Given the description of an element on the screen output the (x, y) to click on. 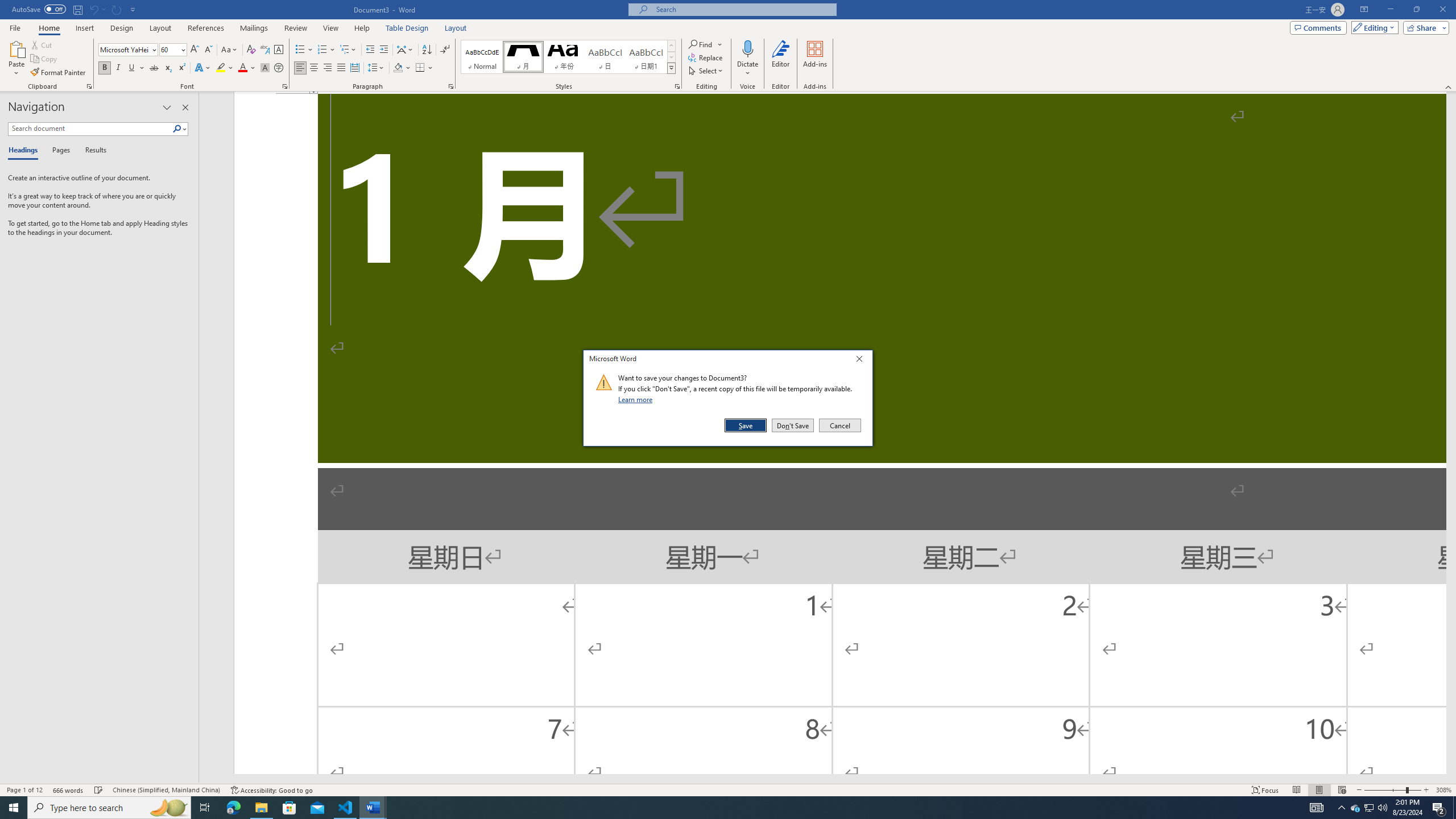
Can't Undo (96, 9)
Close pane (185, 107)
Font Color RGB(255, 0, 0) (241, 67)
Shading (402, 67)
Find (700, 44)
Quick Access Toolbar (74, 9)
Restore Down (1416, 9)
Class: MsoCommandBar (728, 789)
Headings (25, 150)
Cancel (839, 425)
Insert (83, 28)
Print Layout (1318, 790)
File Tab (15, 27)
Increase Indent (383, 49)
